Given the description of an element on the screen output the (x, y) to click on. 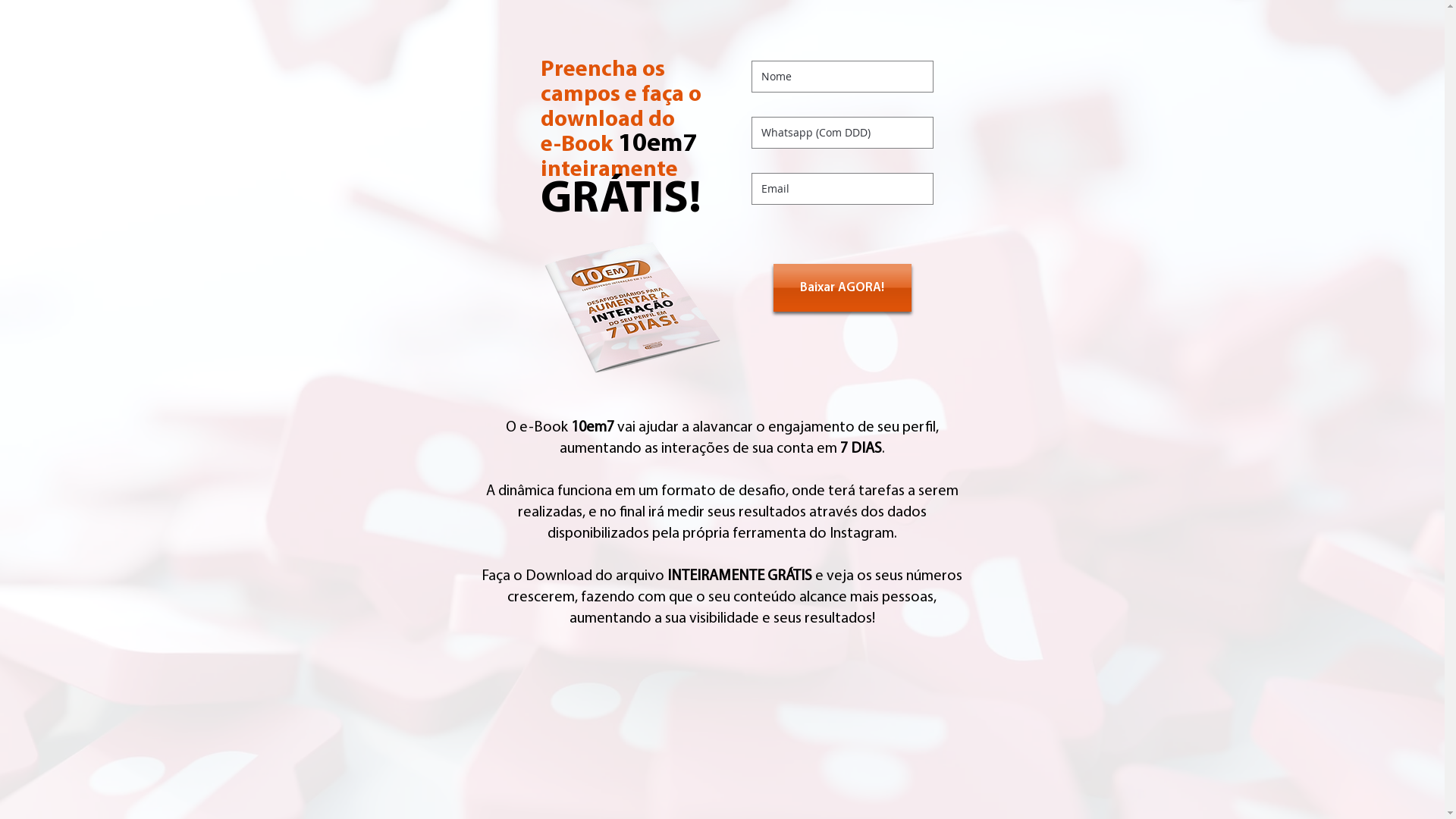
Baixar AGORA! Element type: text (842, 287)
